Given the description of an element on the screen output the (x, y) to click on. 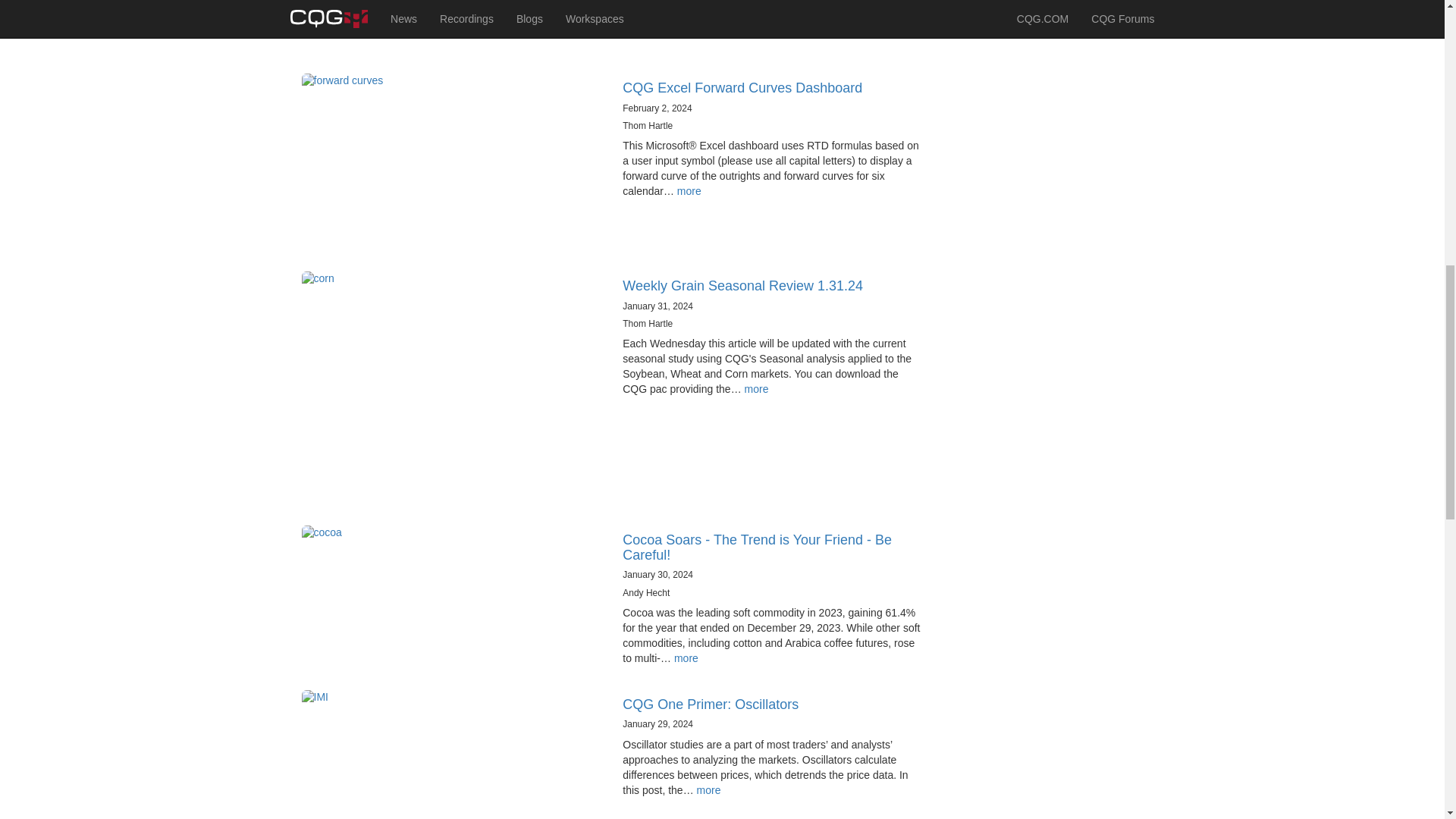
CQG Excel Forward Curves Dashboard (742, 87)
CQG One Primer: Oscillators (710, 703)
more (708, 789)
more (689, 191)
Weekly Grain Seasonal Review 1.31.24 (743, 285)
more (686, 657)
Cocoa Soars - The Trend is Your Friend - Be Careful! (757, 547)
more (756, 388)
